Given the description of an element on the screen output the (x, y) to click on. 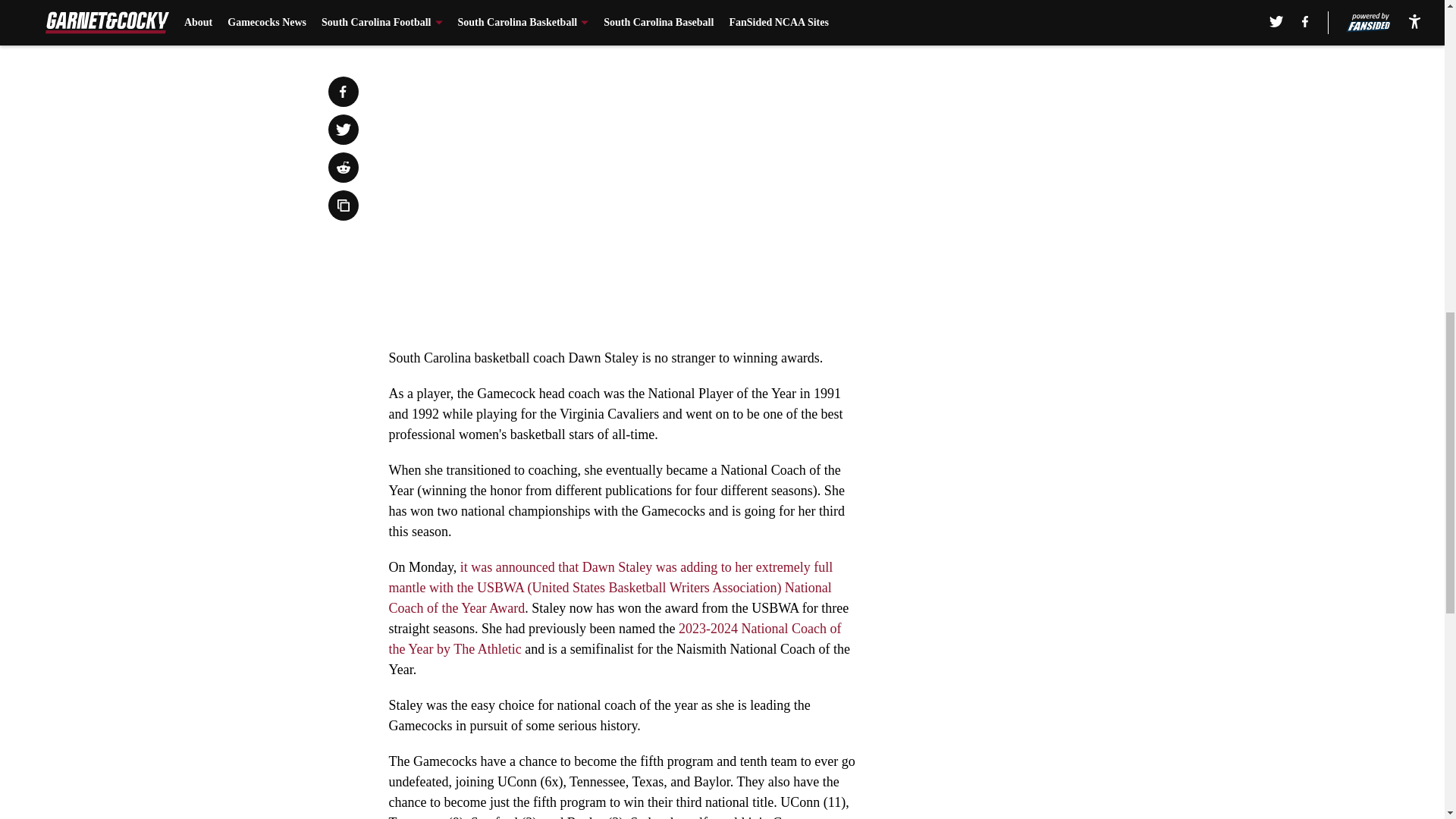
2023-2024 National Coach of the Year by The Athletic (614, 638)
